Given the description of an element on the screen output the (x, y) to click on. 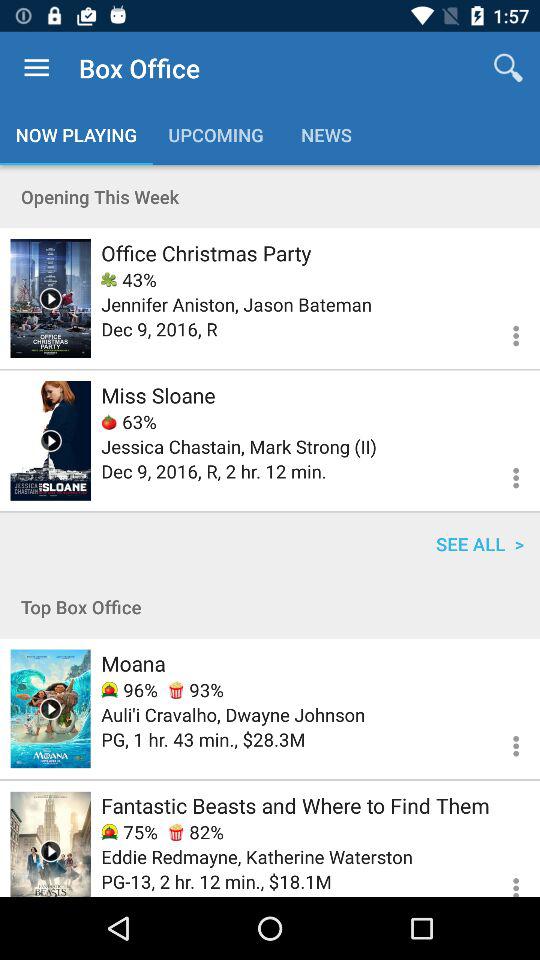
turn on icon above auli i cravalho (129, 689)
